Given the description of an element on the screen output the (x, y) to click on. 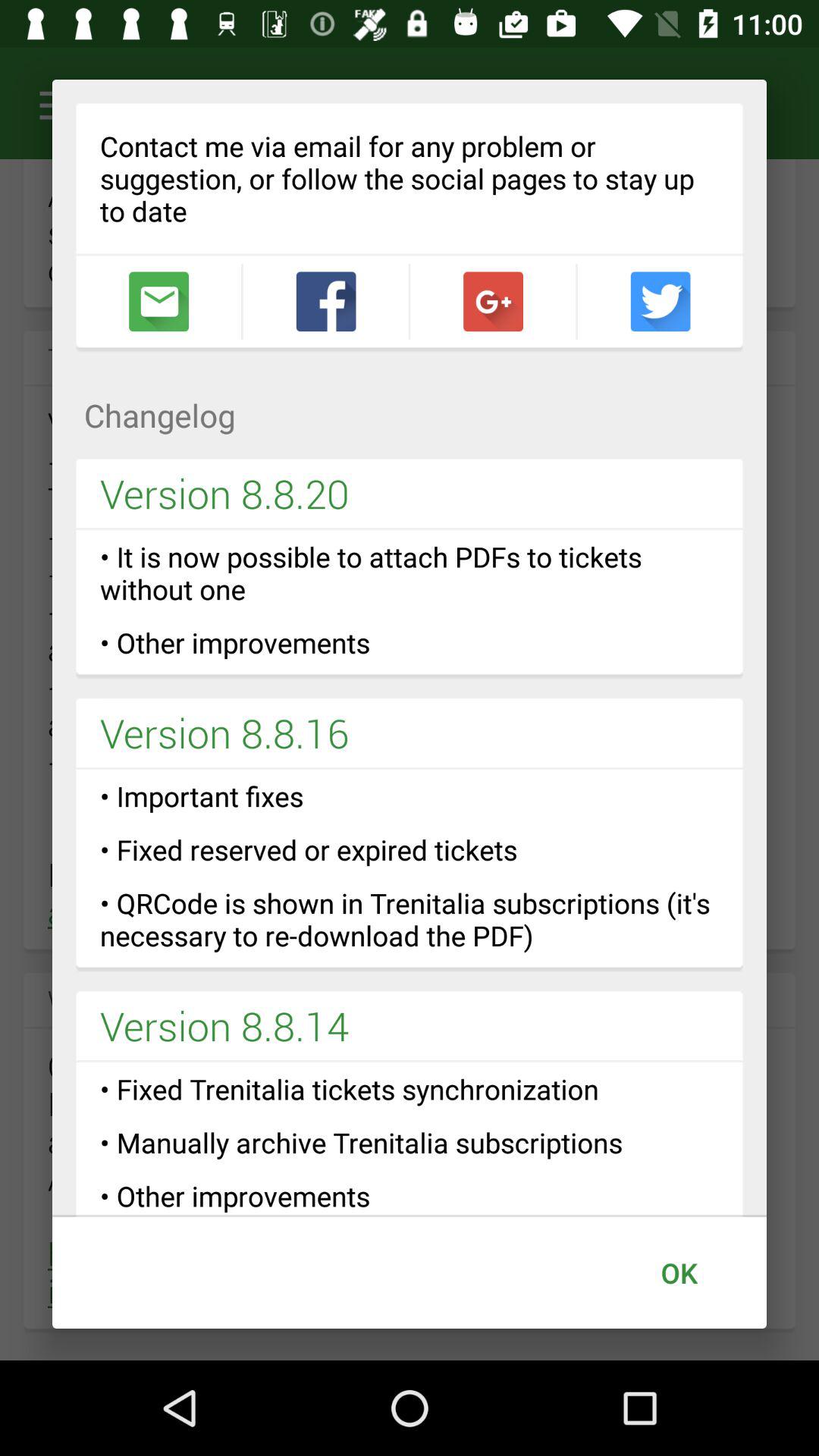
press item above changelog (659, 301)
